Given the description of an element on the screen output the (x, y) to click on. 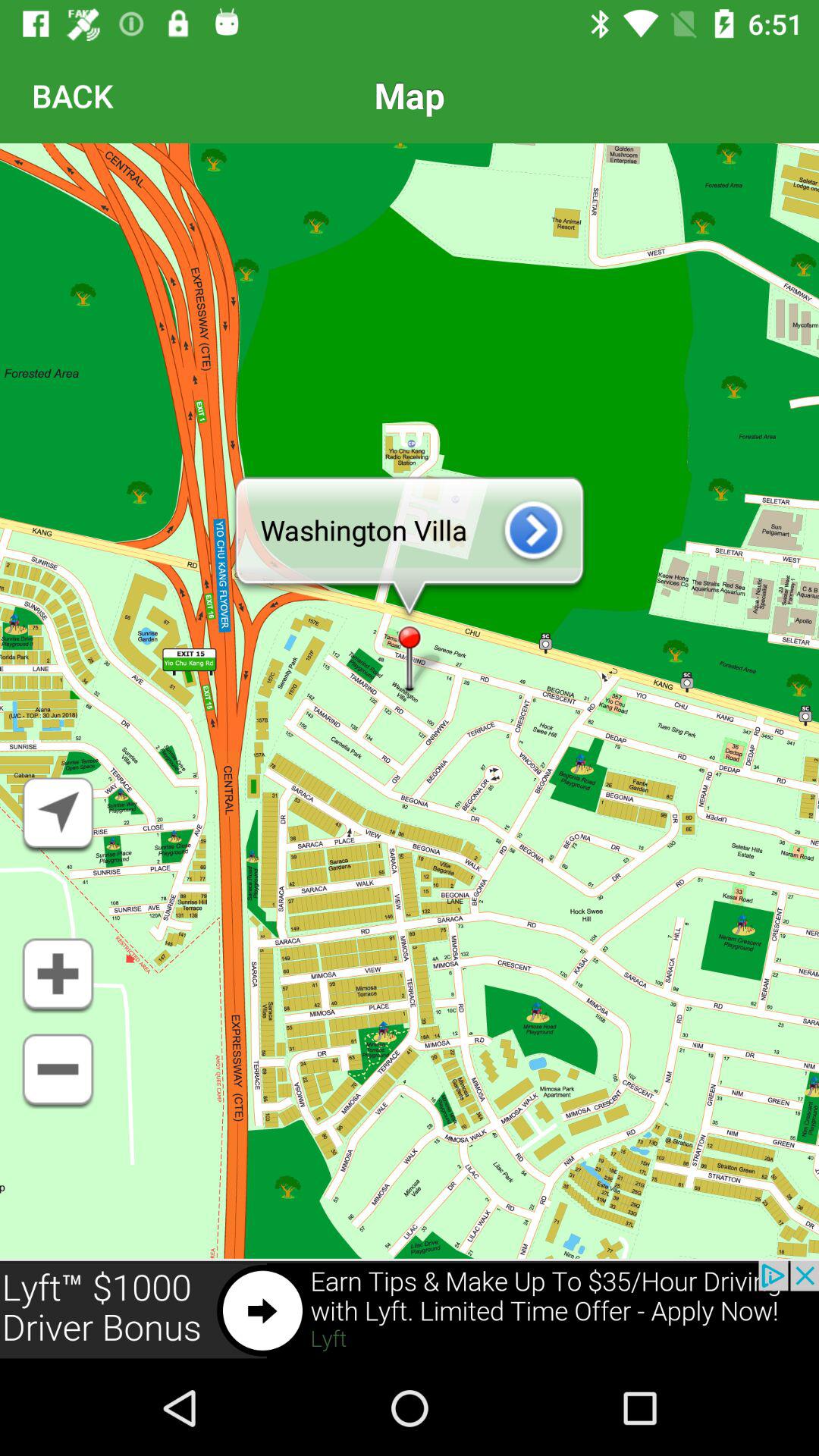
add to favorites (57, 975)
